Given the description of an element on the screen output the (x, y) to click on. 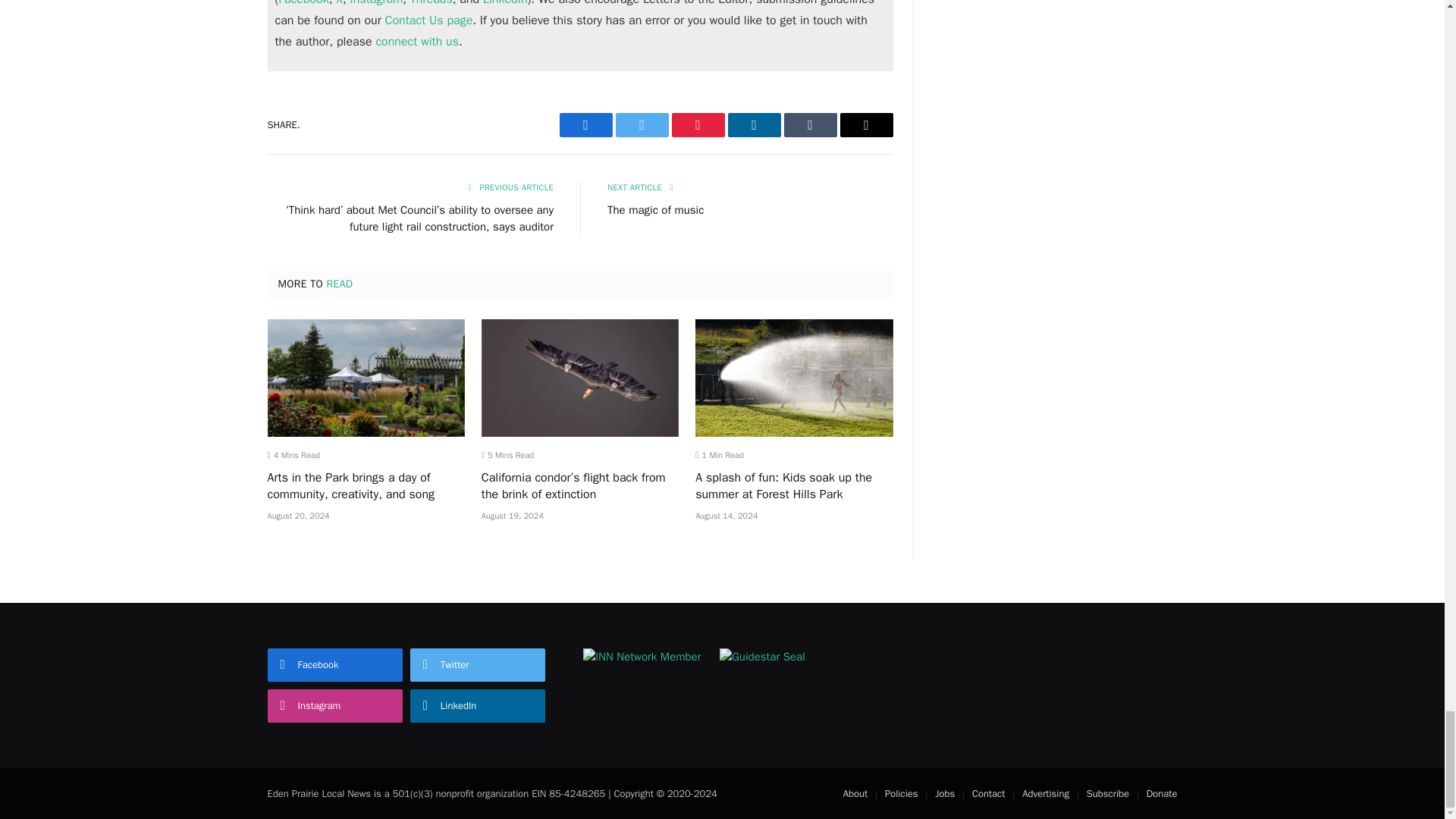
Share on Facebook (585, 125)
Share on LinkedIn (754, 125)
Share on Tumblr (810, 125)
Share via Email (866, 125)
Share on Pinterest (698, 125)
